Given the description of an element on the screen output the (x, y) to click on. 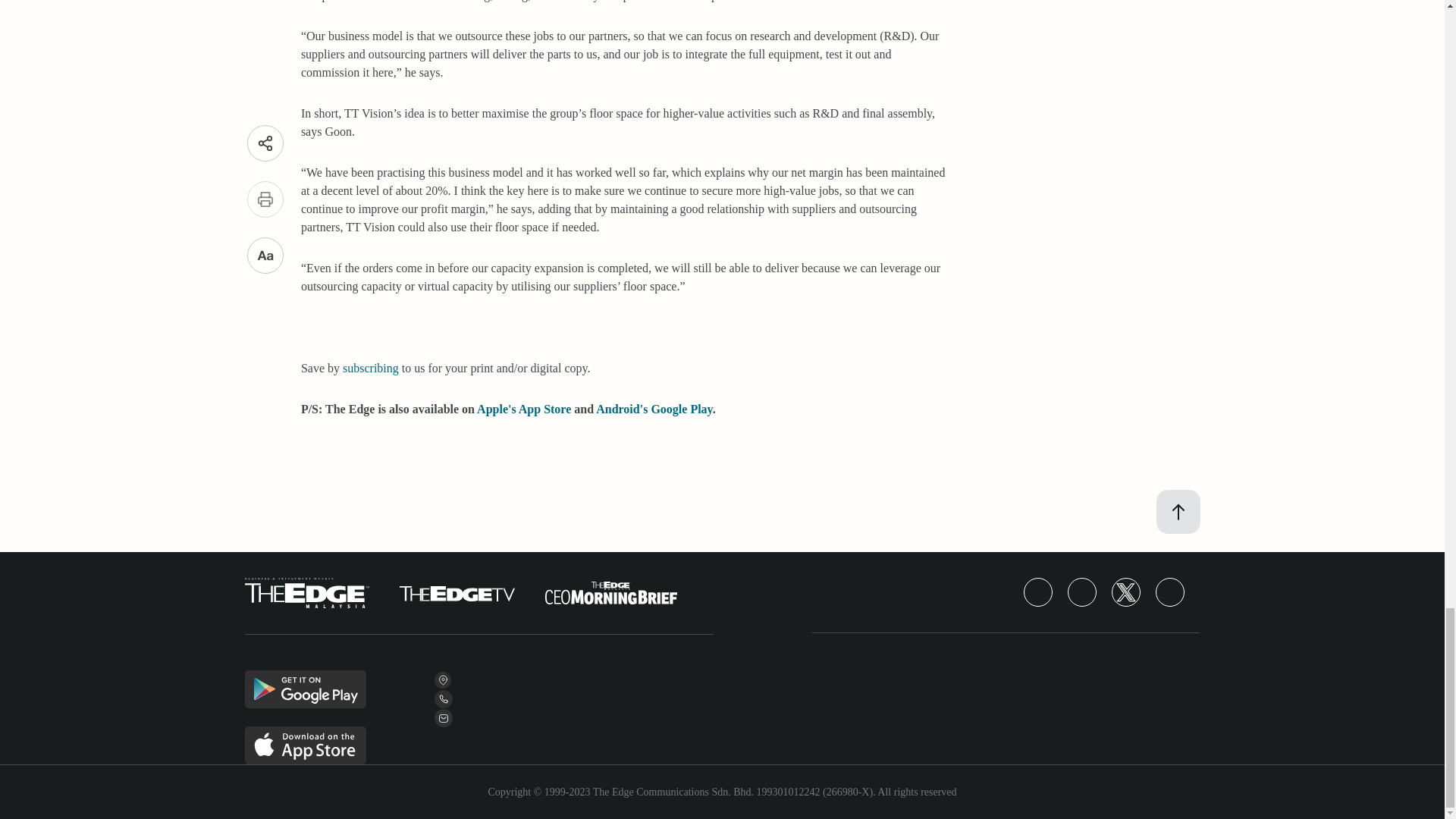
subscribing (370, 367)
Android's Google Play (654, 408)
Apple's App Store (523, 408)
